Given the description of an element on the screen output the (x, y) to click on. 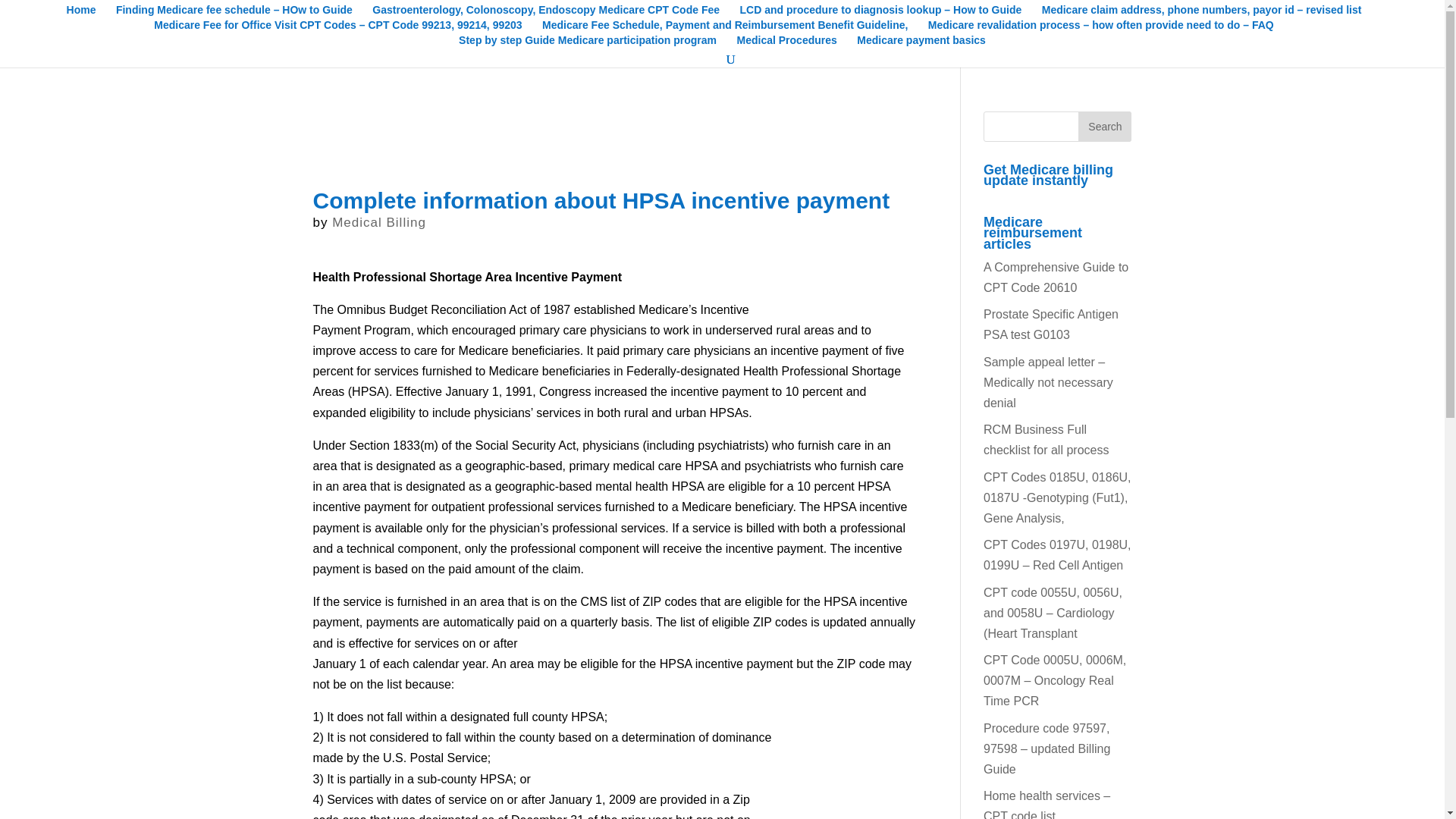
Prostate Specific Antigen PSA test G0103 (1051, 324)
Home (81, 11)
Medical Procedures (786, 42)
Step by step Guide Medicare participation program (587, 42)
Posts by Medical Billing (378, 222)
A Comprehensive Guide to CPT Code 20610 (1056, 277)
RCM Business Full checklist for all process (1046, 439)
Medical Billing (378, 222)
Search (1104, 126)
Medicare payment basics (921, 42)
Search (1104, 126)
